Given the description of an element on the screen output the (x, y) to click on. 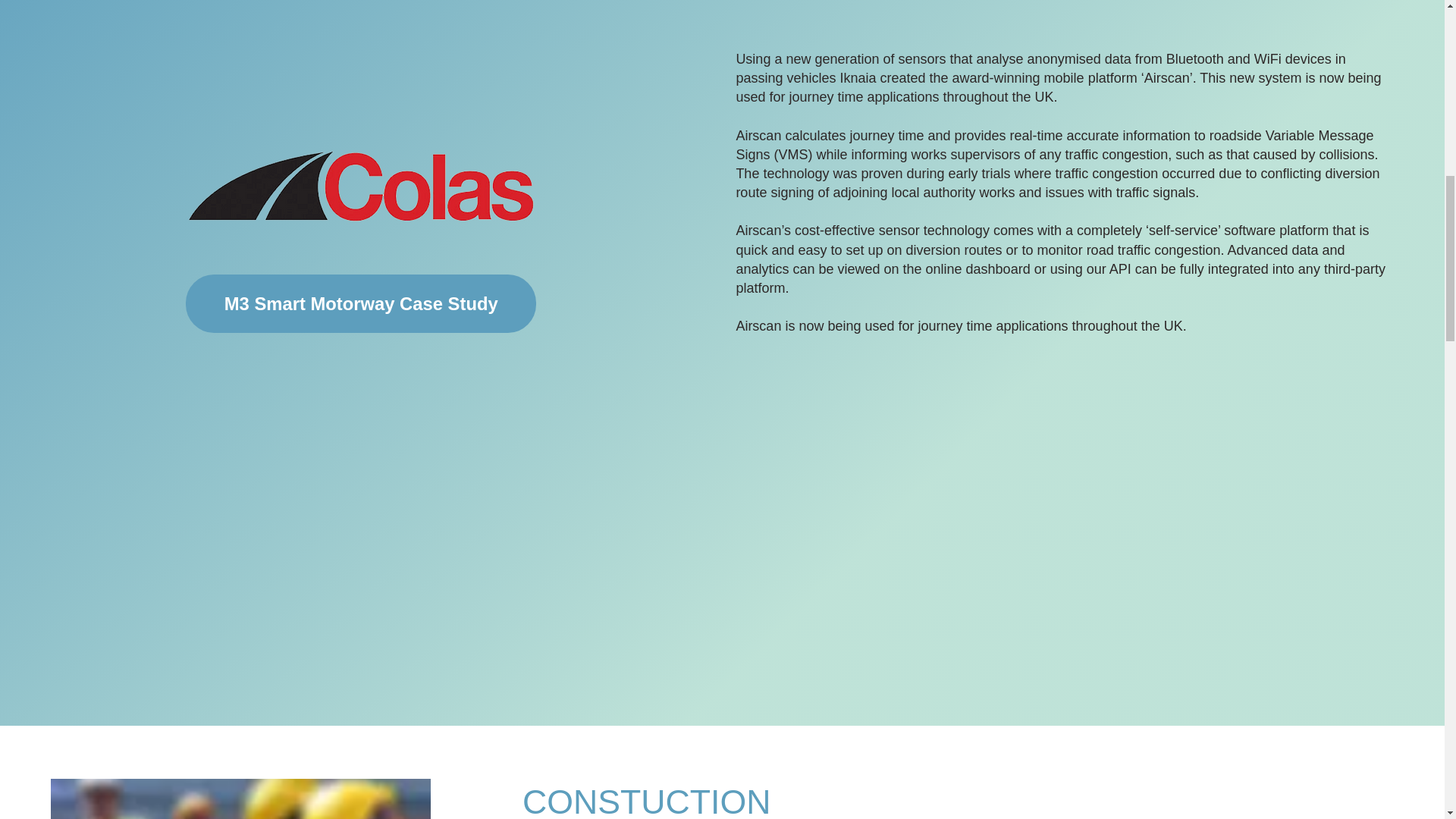
M3 Smart Motorway Case Study (361, 303)
